Given the description of an element on the screen output the (x, y) to click on. 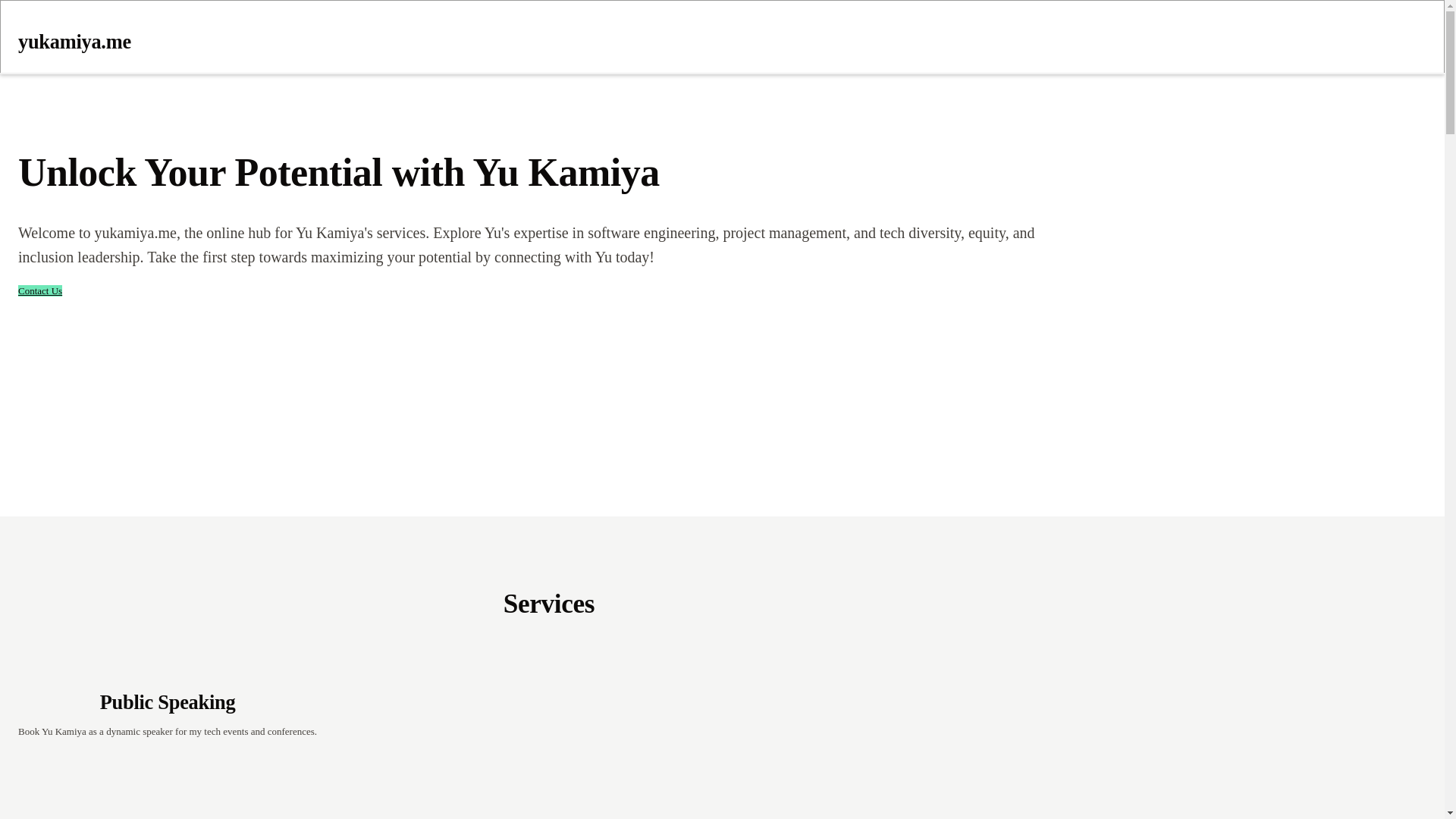
yukamiya.me (453, 32)
Contact Us (39, 290)
